Given the description of an element on the screen output the (x, y) to click on. 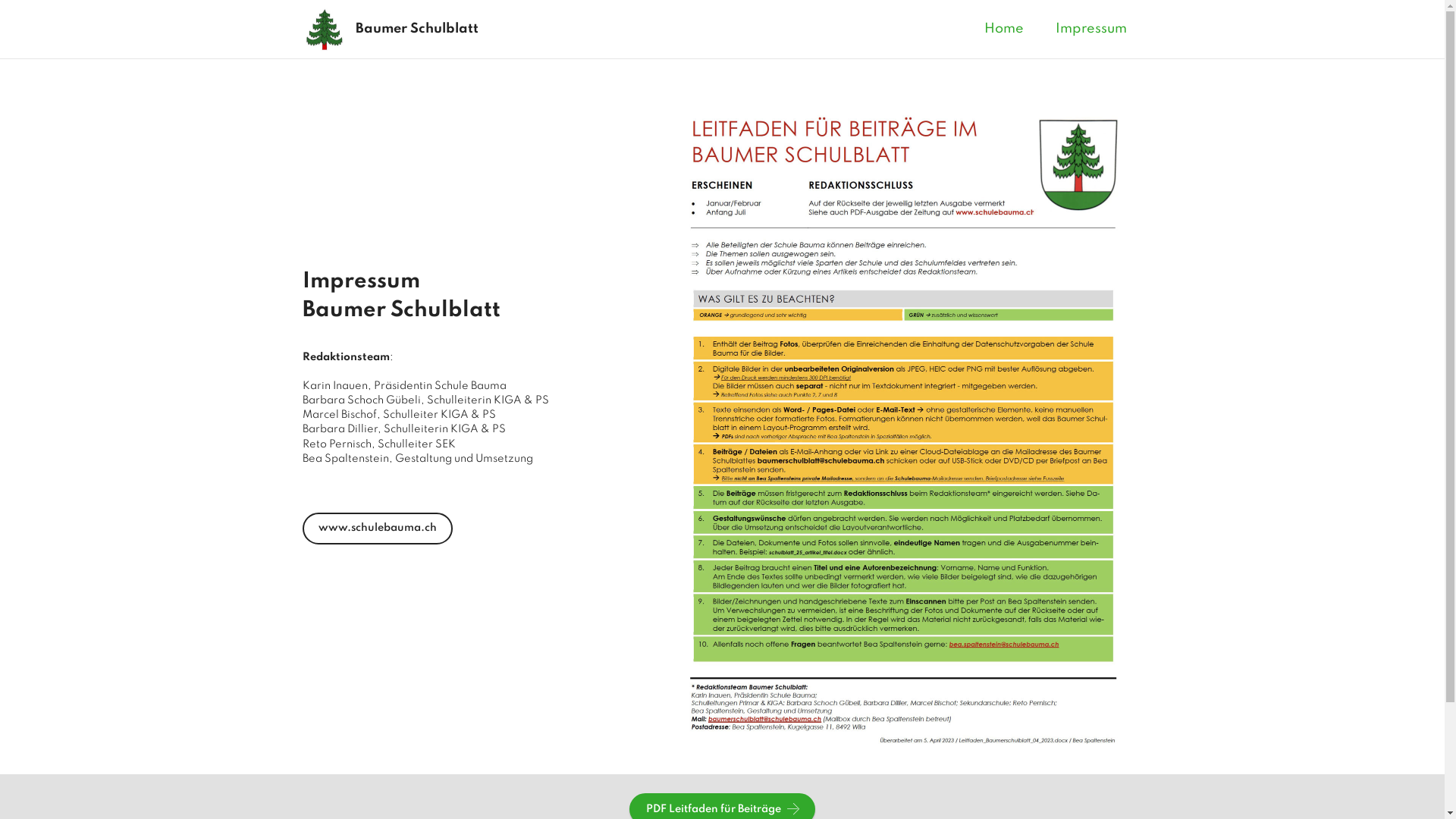
www.schulebauma.ch Element type: text (376, 528)
Impressum Element type: text (1090, 28)
Home Element type: text (1003, 28)
Baumer Schulblatt Element type: text (441, 28)
